Given the description of an element on the screen output the (x, y) to click on. 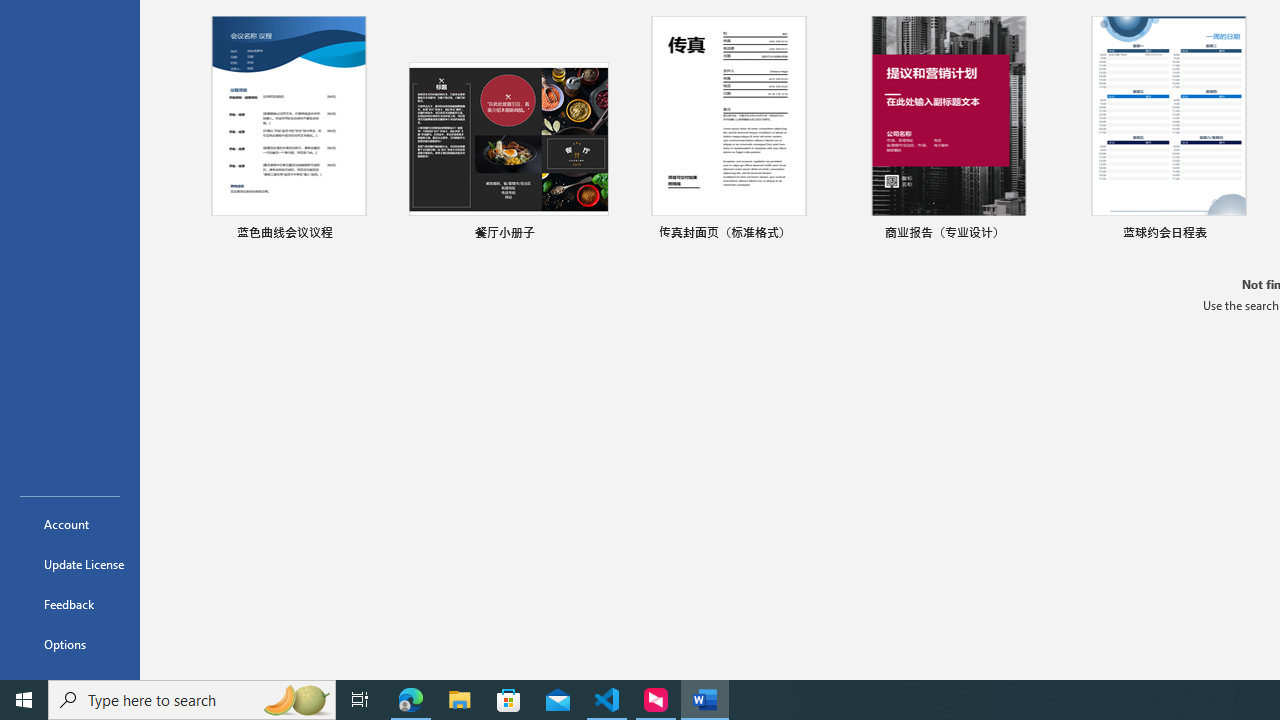
Update License (69, 563)
Options (69, 643)
Feedback (69, 603)
Pin to list (1255, 234)
Account (69, 523)
